Given the description of an element on the screen output the (x, y) to click on. 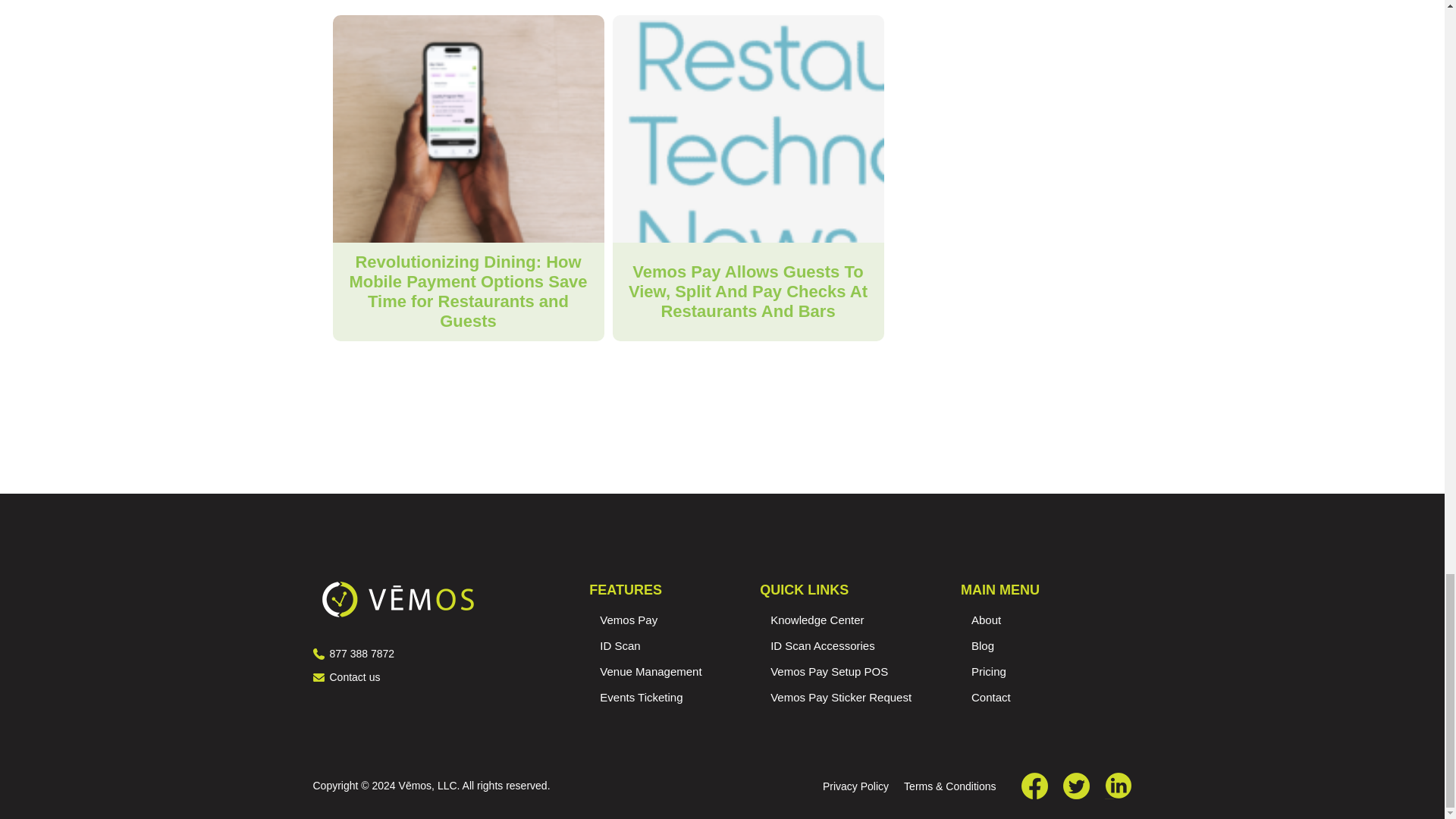
footer-logo (397, 599)
